Given the description of an element on the screen output the (x, y) to click on. 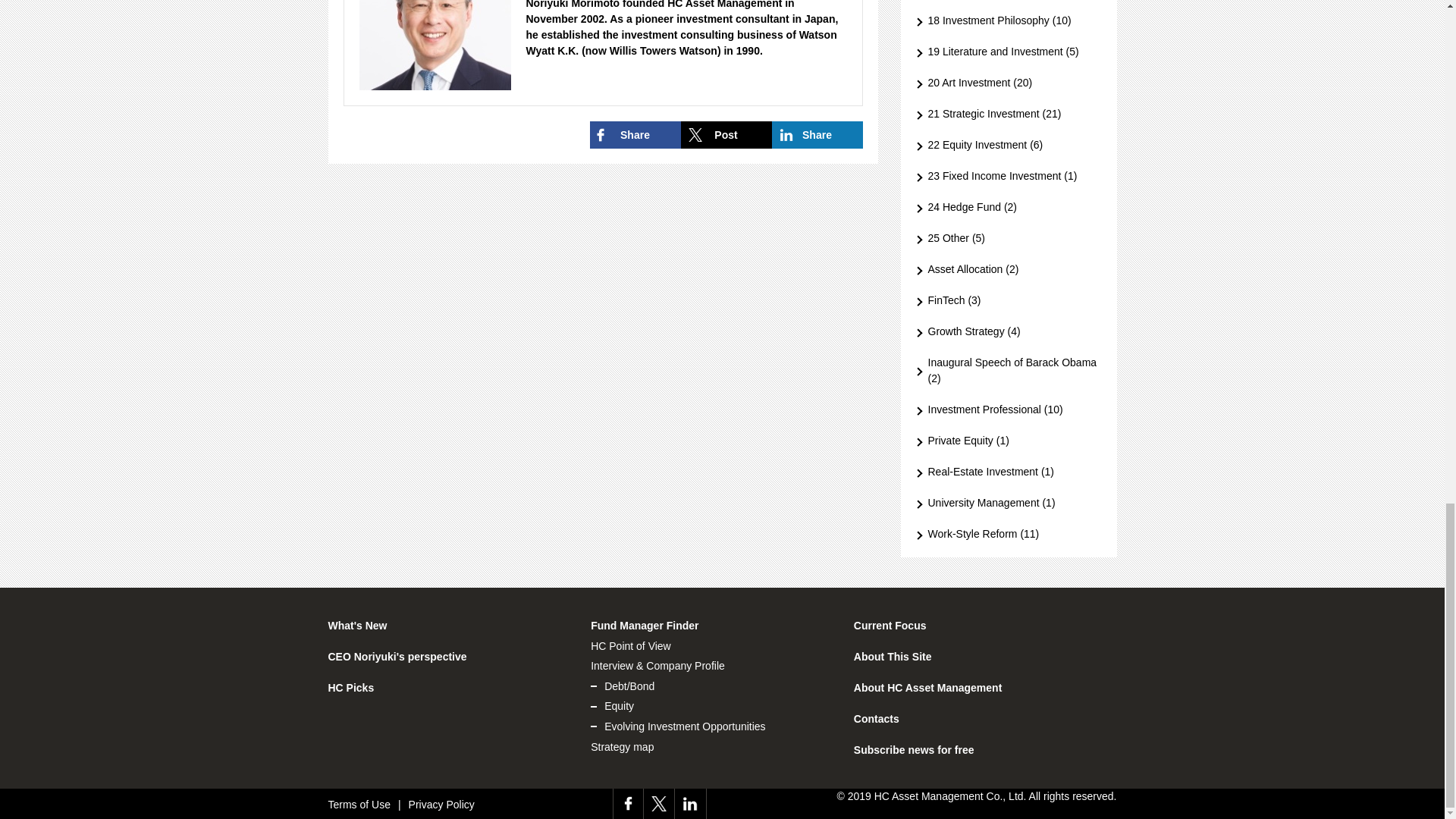
Share (817, 134)
Post (726, 134)
Share (635, 134)
